Given the description of an element on the screen output the (x, y) to click on. 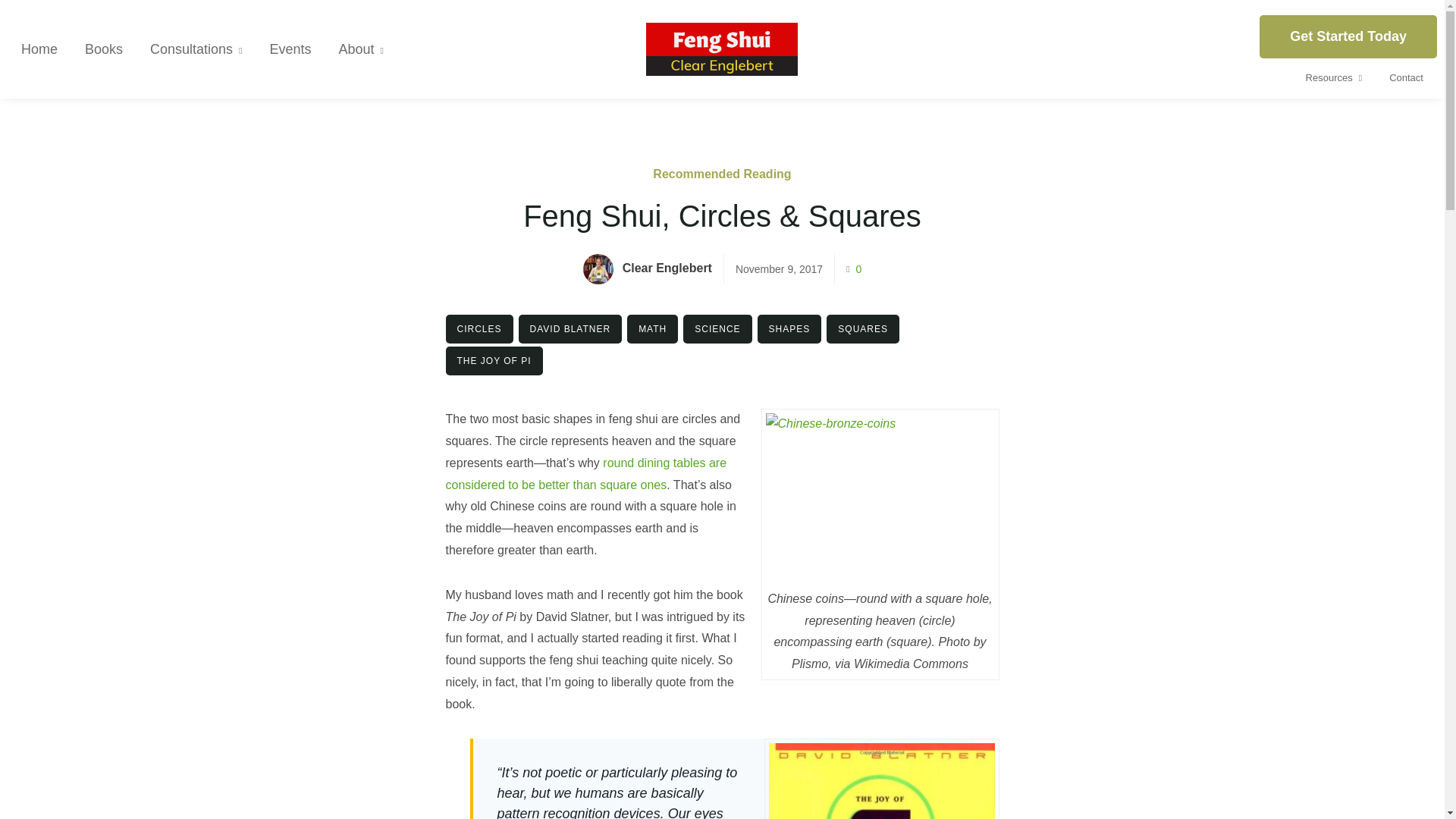
Home (39, 49)
Books (103, 49)
Resources (1333, 77)
Feng Shui by Clear Englebert (721, 48)
View all posts in Recommended Reading (721, 173)
Posts by Clear Englebert (667, 267)
Events (290, 49)
Consultations (196, 49)
Contact (1406, 77)
Get Started Today (1348, 36)
